Given the description of an element on the screen output the (x, y) to click on. 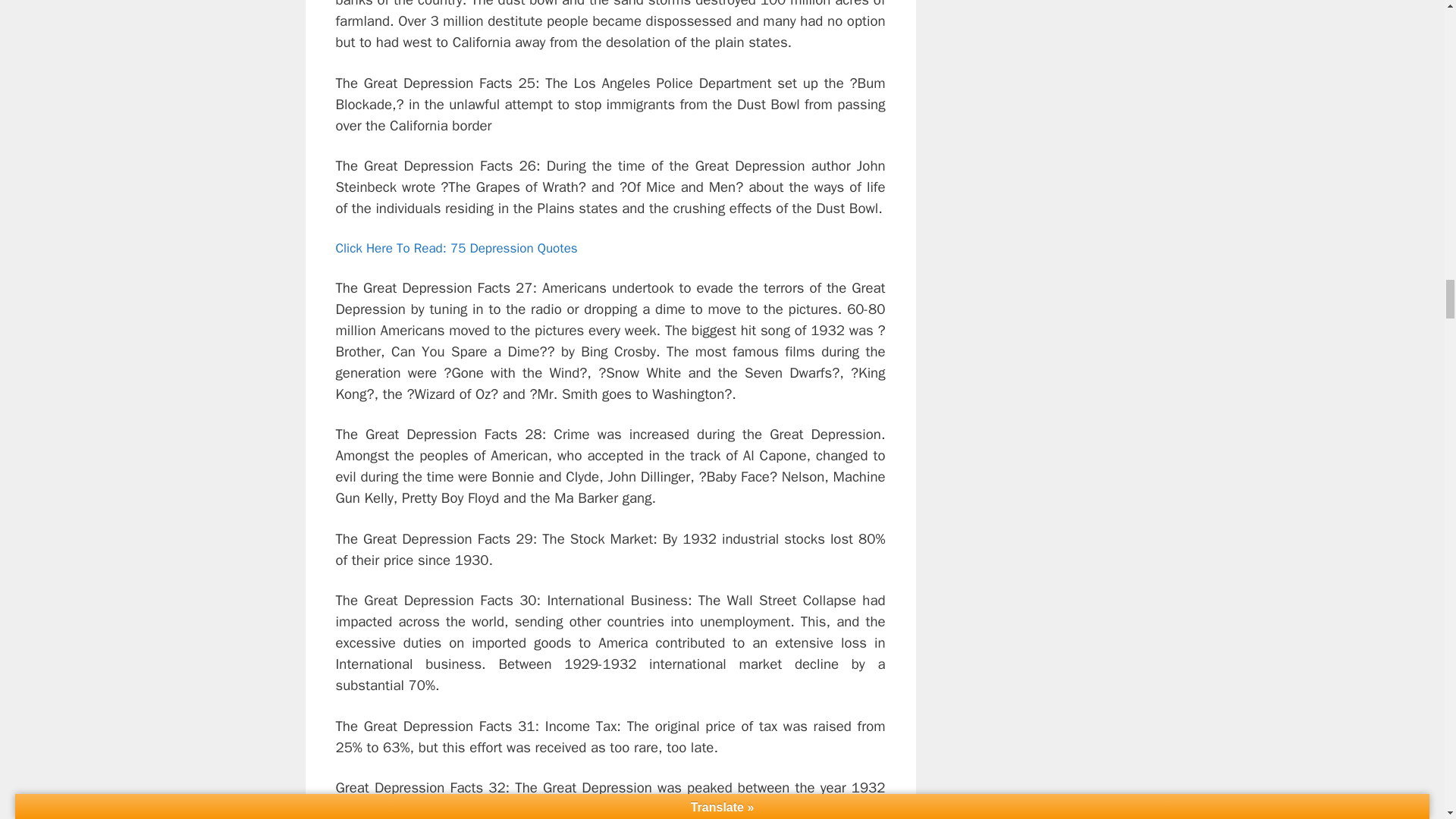
Click Here To Read: 75 Depression Quotes (455, 248)
